Given the description of an element on the screen output the (x, y) to click on. 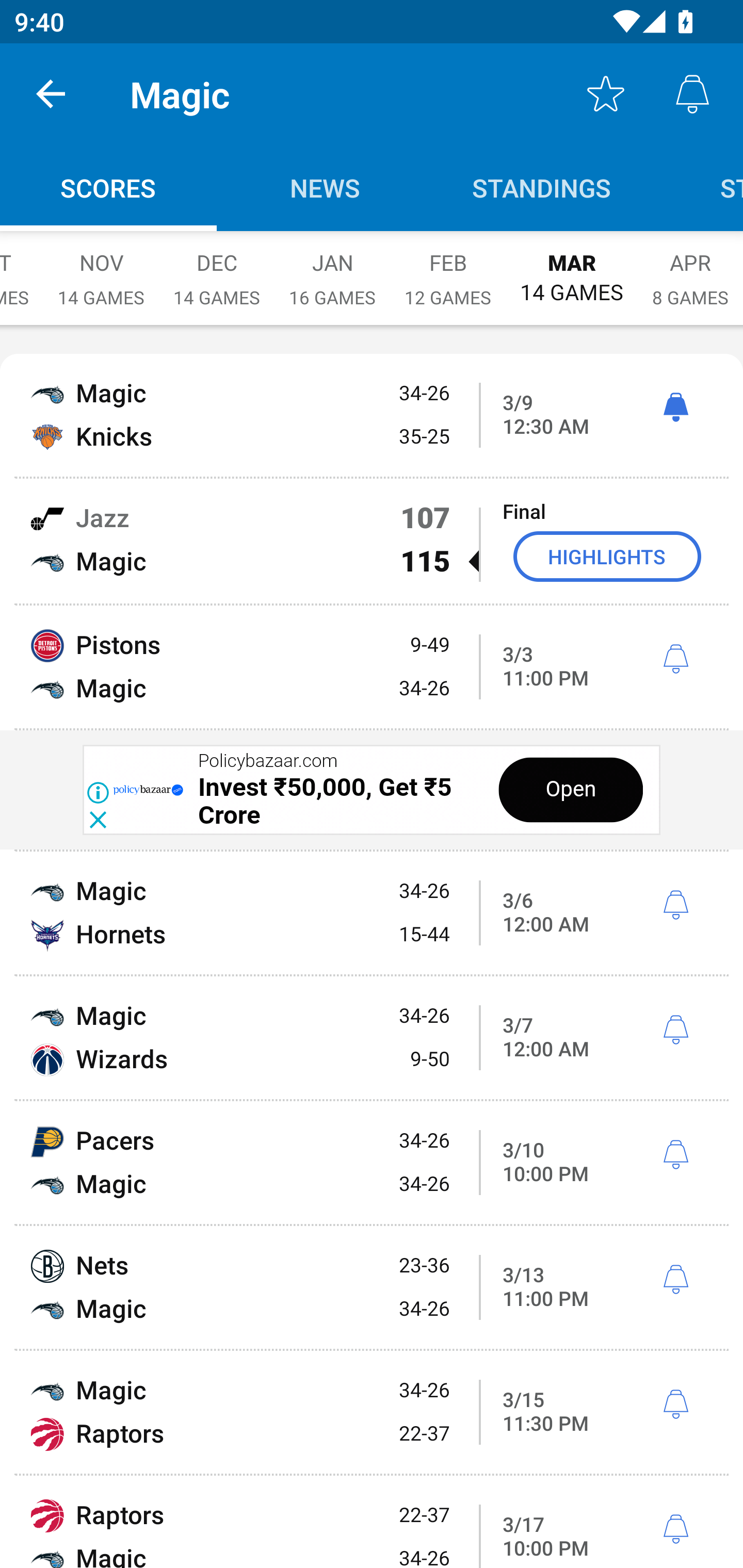
back.button (50, 93)
Favorite toggle (605, 93)
Alerts (692, 93)
News NEWS (324, 187)
Standings STANDINGS (541, 187)
NOV 14 GAMES (101, 268)
DEC 14 GAMES (216, 268)
JAN 16 GAMES (332, 268)
FEB 12 GAMES (447, 268)
MAR 14 GAMES (571, 267)
APR 8 GAMES (690, 268)
Magic 34-26 Knicks 35-25 3/9 12:30 AM ì (371, 415)
ì (675, 407)
Jazz 107 Final Magic 115  HIGHLIGHTS (371, 540)
HIGHLIGHTS (607, 556)
Pistons 9-49 Magic 34-26 3/3 11:00 PM í (371, 666)
í (675, 658)
Magic 34-26 Hornets 15-44 3/6 12:00 AM í (371, 912)
í (675, 905)
Magic 34-26 Wizards 9-50 3/7 12:00 AM í (371, 1037)
í (675, 1029)
Pacers 34-26 Magic 34-26 3/10 10:00 PM í (371, 1162)
í (675, 1154)
Nets 23-36 Magic 34-26 3/13 11:00 PM í (371, 1287)
í (675, 1279)
Magic 34-26 Raptors 22-37 3/15 11:30 PM í (371, 1412)
í (675, 1404)
Raptors 22-37 Magic 34-26 3/17 10:00 PM í (371, 1521)
í (675, 1529)
